Given the description of an element on the screen output the (x, y) to click on. 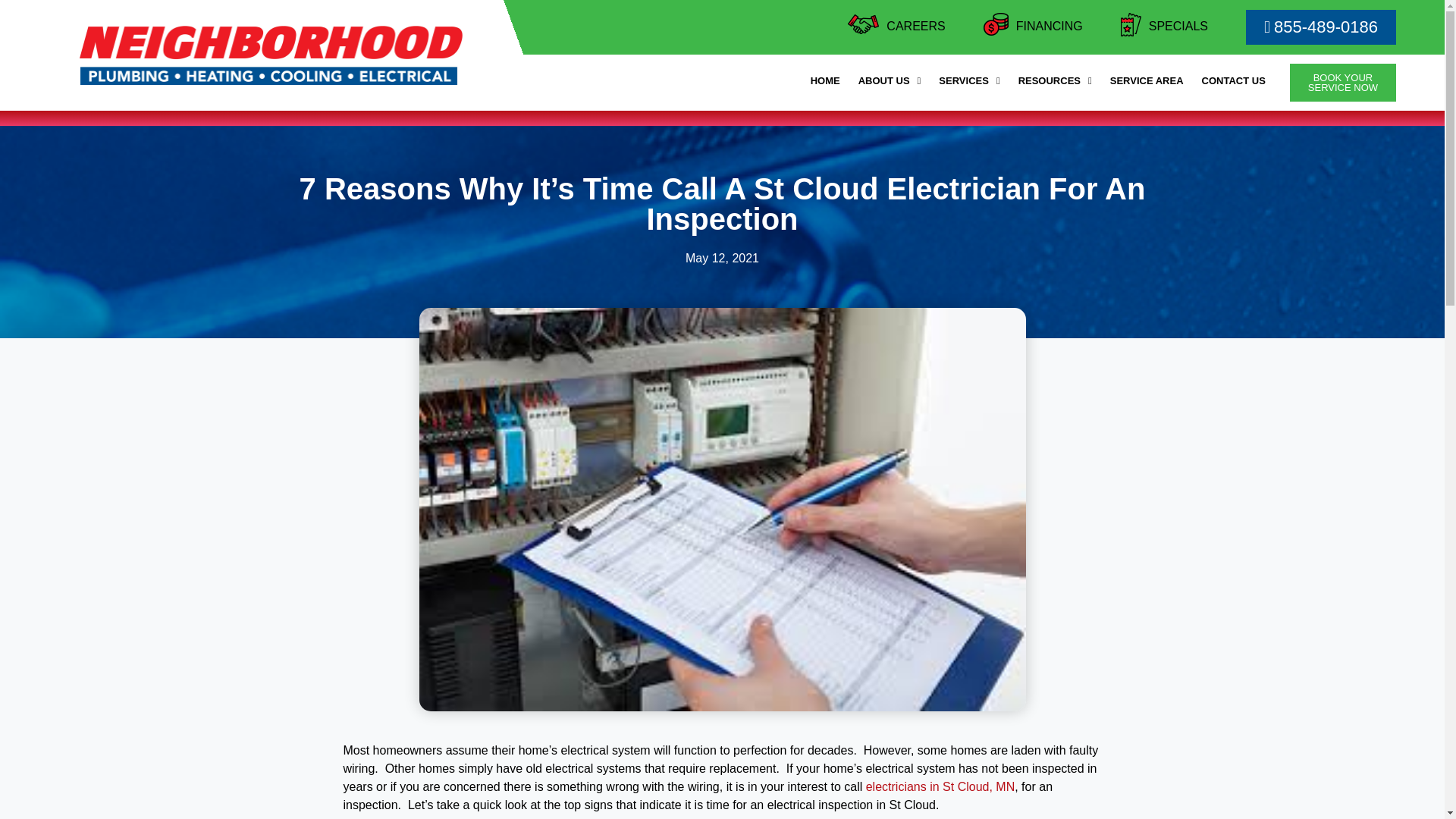
SERVICES (969, 80)
SERVICE AREA (1146, 80)
ABOUT US (889, 80)
FINANCING (1049, 25)
HOME (825, 80)
SPECIALS (1178, 25)
RESOURCES (1054, 80)
CAREERS (915, 25)
CONTACT US (1343, 82)
855-489-0186 (1233, 80)
